Given the description of an element on the screen output the (x, y) to click on. 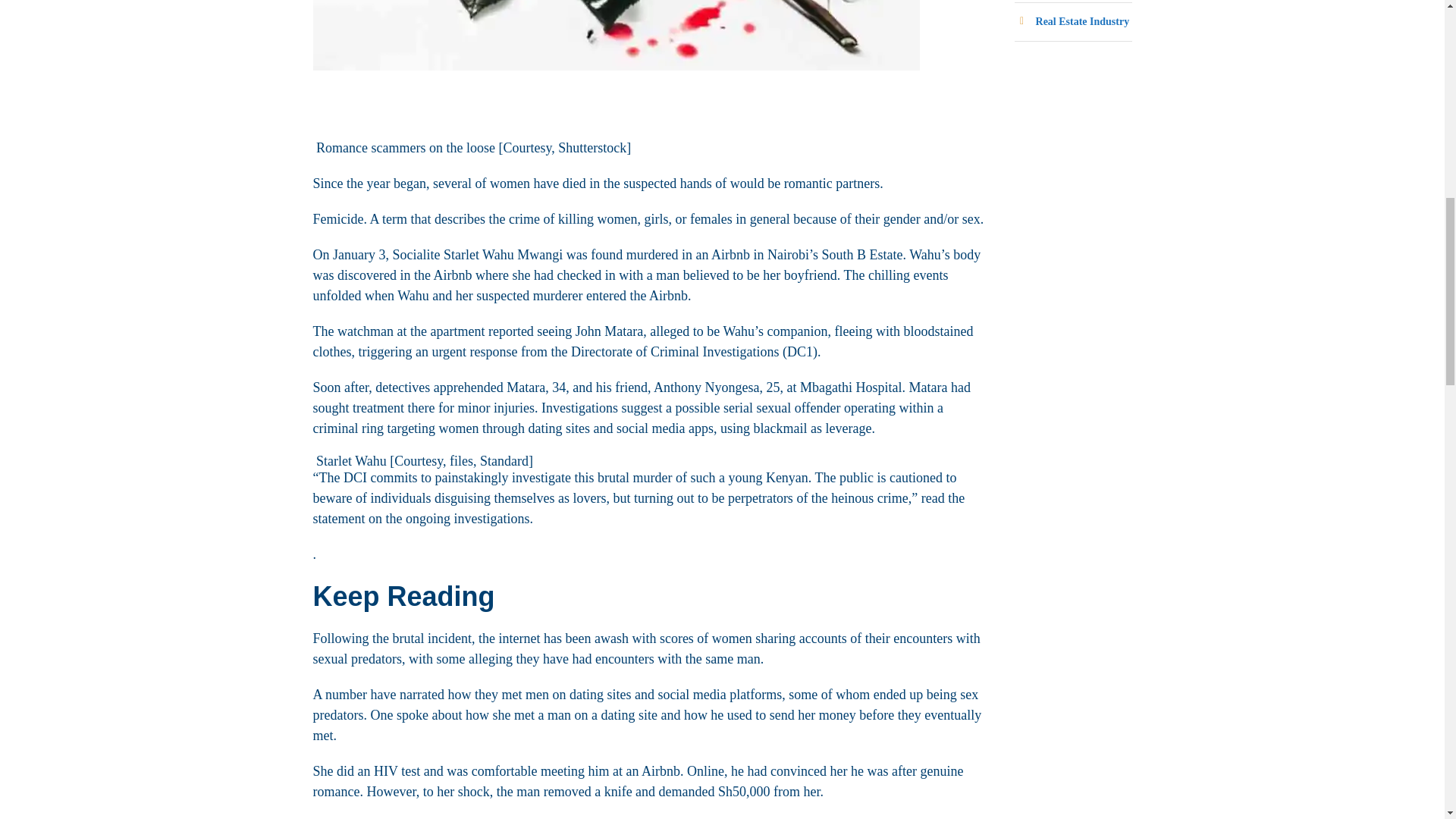
zVFqZhIHpLNe6g5eaI3zoX0yo1xWxBCwNBmzXwry.jpg (615, 35)
